Given the description of an element on the screen output the (x, y) to click on. 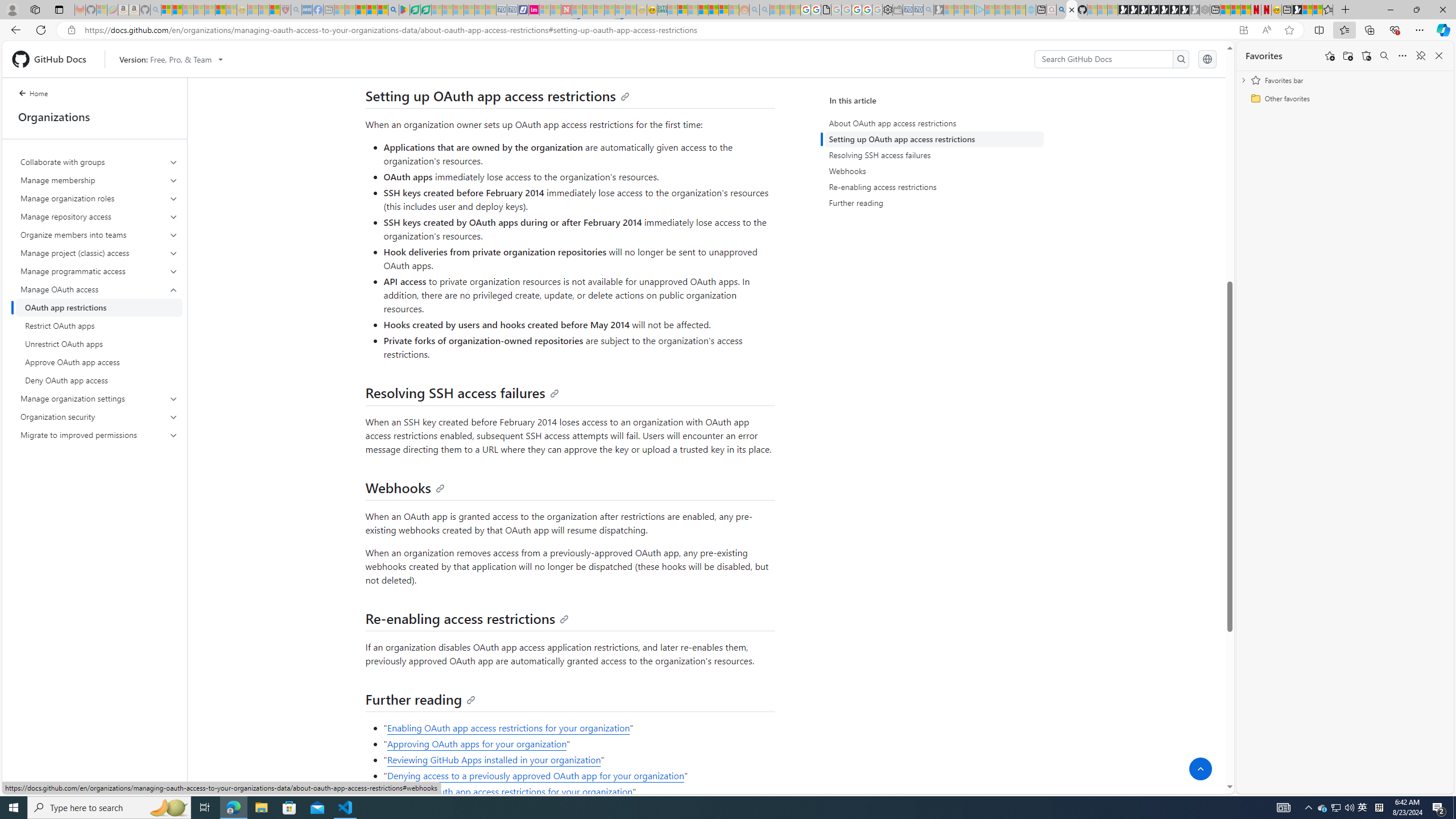
Setting up OAuth app access restrictions (933, 139)
Reviewing GitHub Apps installed in your organization (494, 759)
Restrict OAuth apps (99, 325)
Manage organization settings (99, 398)
Approving OAuth apps for your organization (476, 743)
Manage organization settings (99, 398)
Unrestrict OAuth apps (99, 343)
Deny OAuth app access (99, 380)
About OAuth app access restrictions (935, 123)
